Given the description of an element on the screen output the (x, y) to click on. 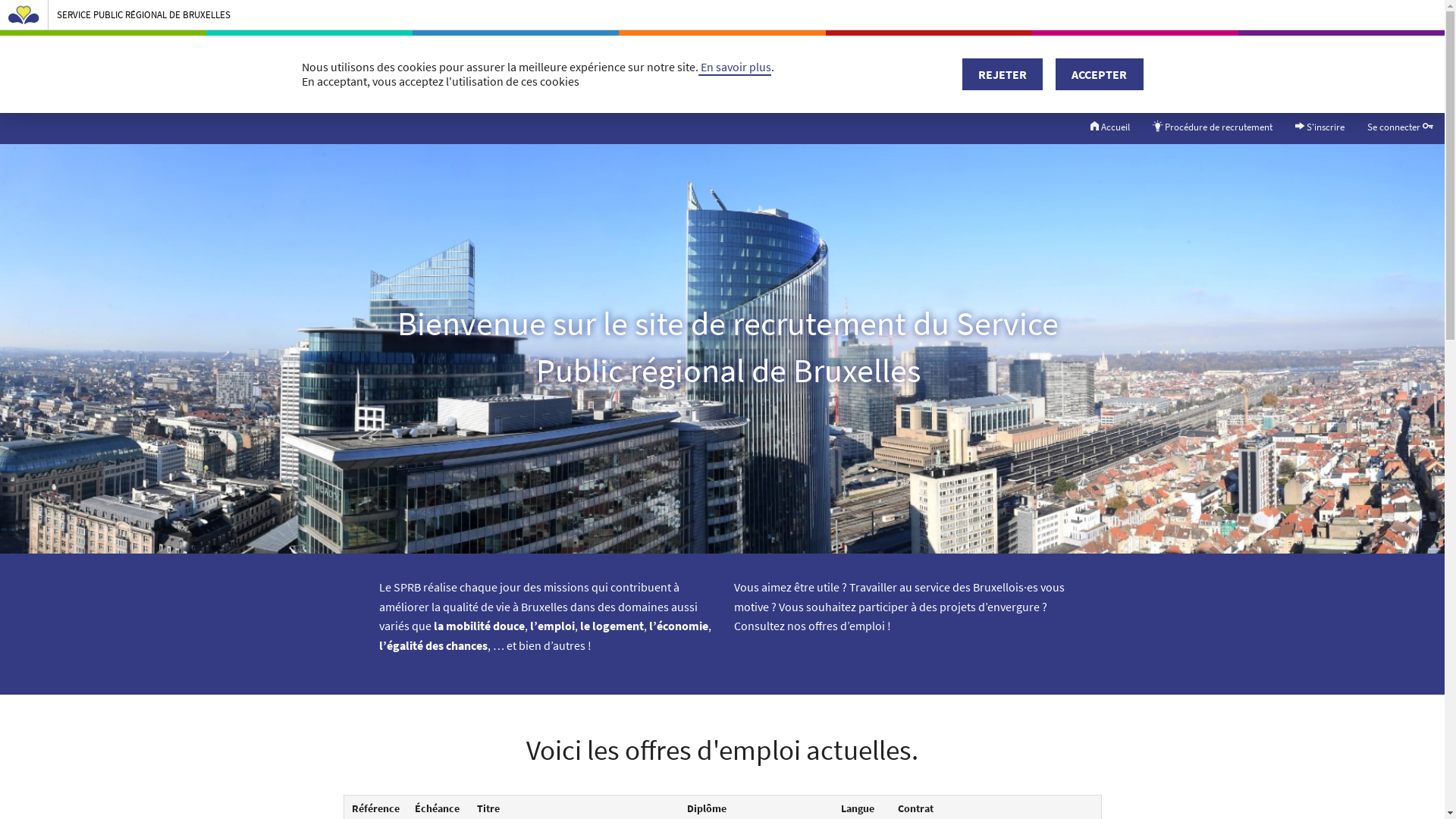
Nl Element type: text (1084, 75)
REJETER Element type: text (1002, 74)
ACCEPTER Element type: text (1098, 74)
Fr Element type: text (1062, 75)
S'inscrire Element type: text (1319, 126)
Se connecter Element type: text (1399, 126)
Accueil Element type: text (1110, 126)
En savoir plus Element type: text (733, 67)
